Given the description of an element on the screen output the (x, y) to click on. 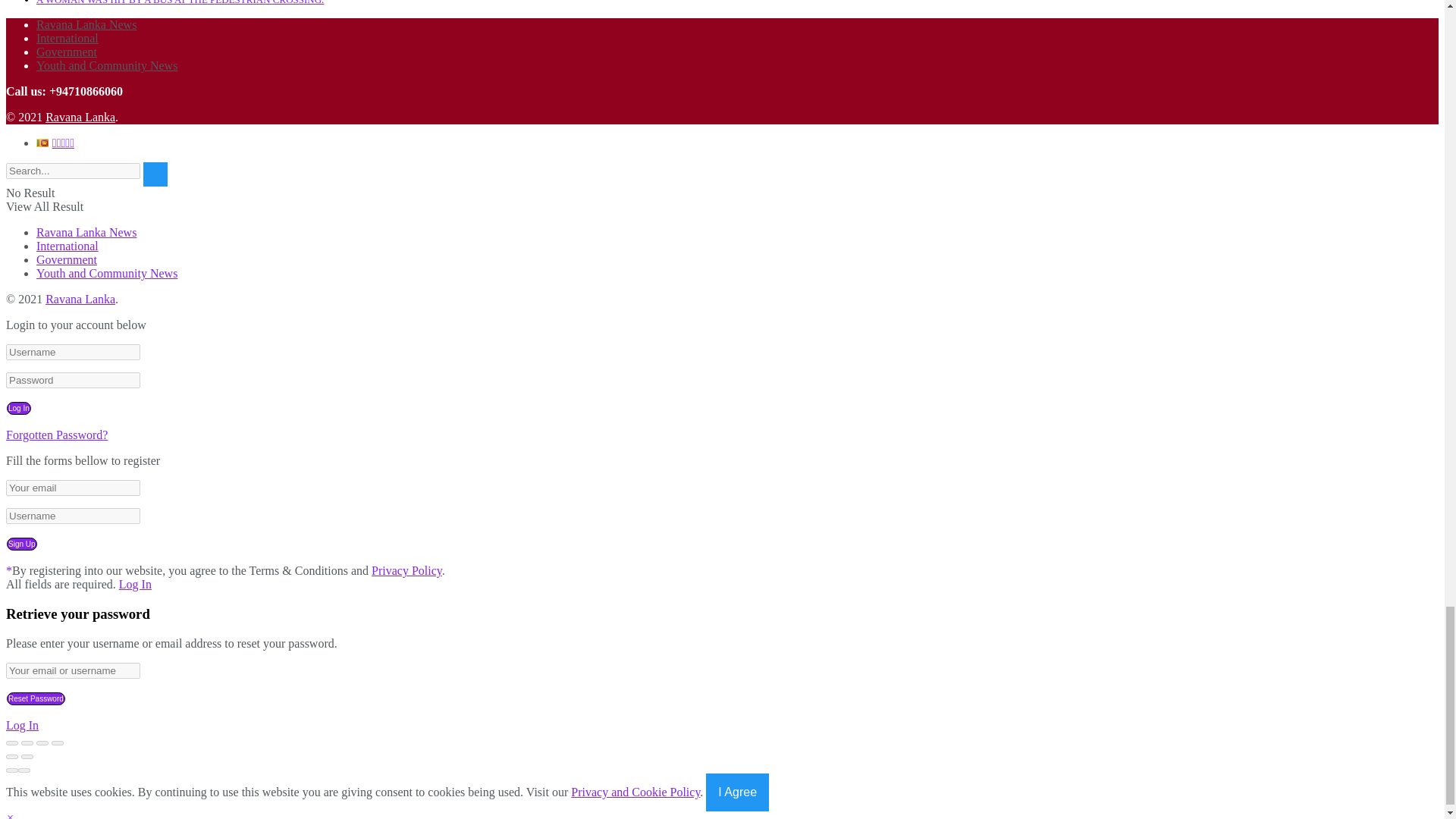
Reset Password (36, 698)
Ravana Lanka News (80, 298)
Sign Up (22, 543)
Log In (18, 408)
Toggle fullscreen (42, 743)
Ravana Lanka News (80, 116)
Share (27, 743)
